Given the description of an element on the screen output the (x, y) to click on. 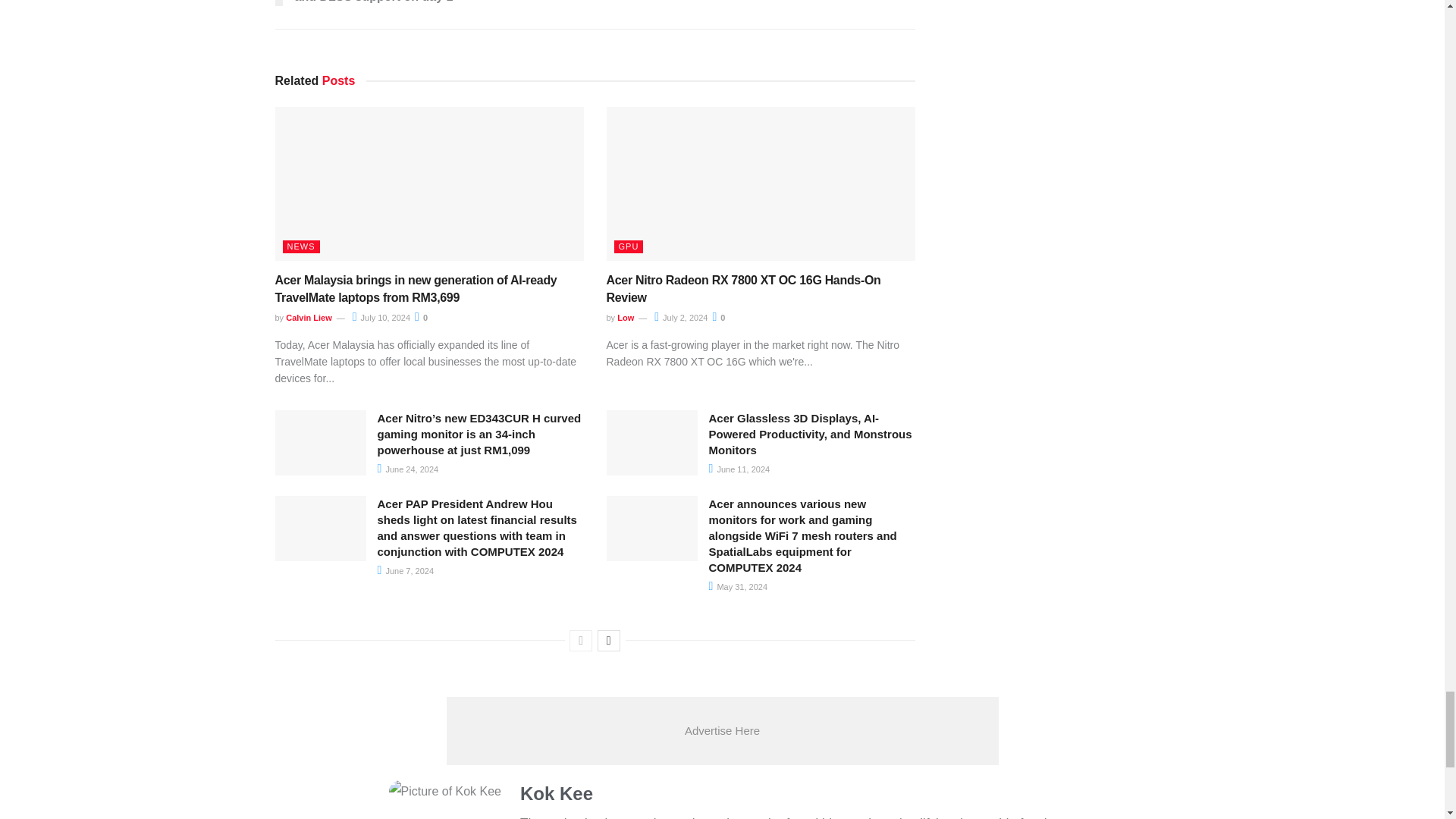
Previous (580, 640)
Next (608, 640)
